Given the description of an element on the screen output the (x, y) to click on. 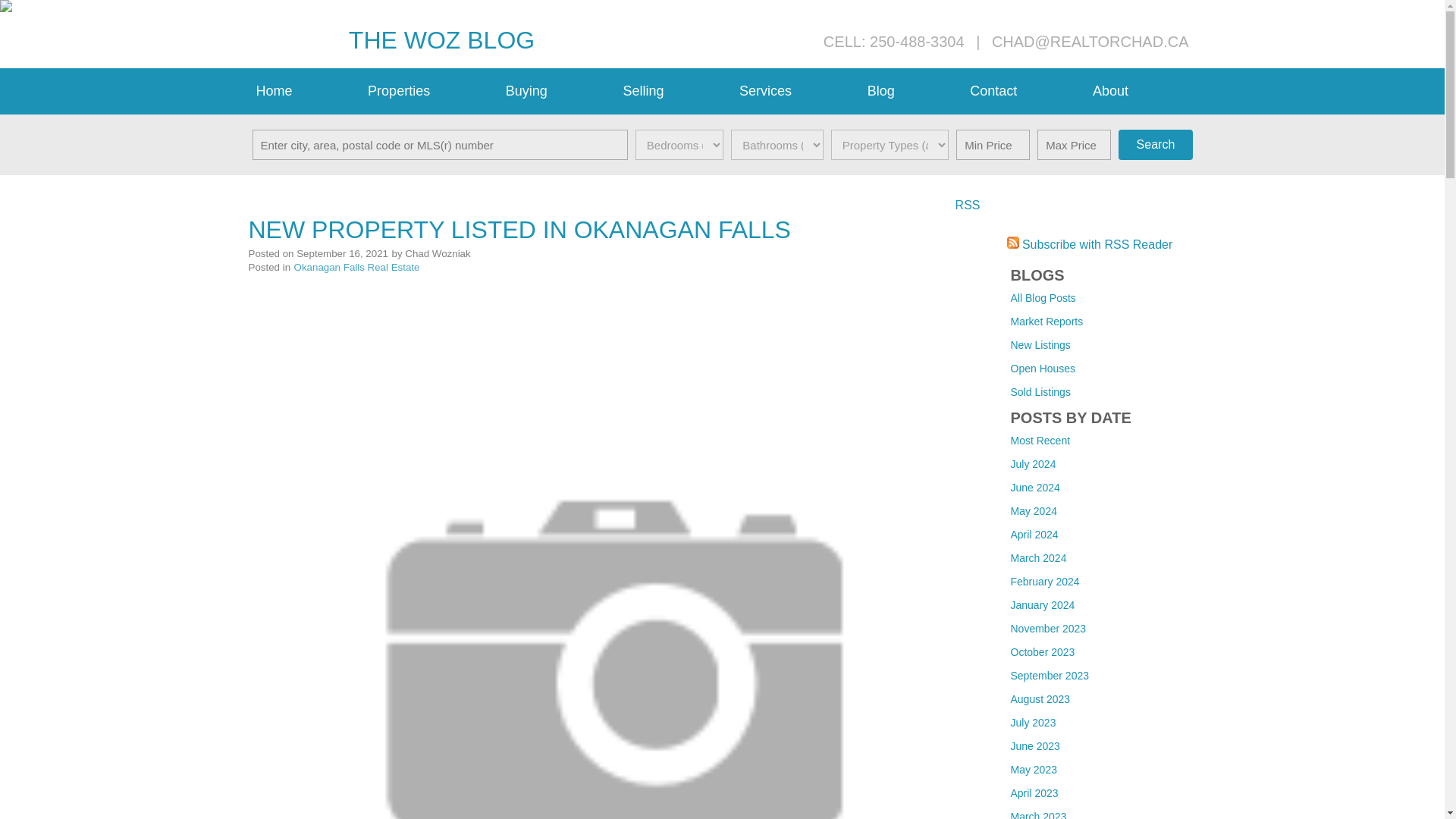
Home (304, 90)
Properties (428, 90)
